Given the description of an element on the screen output the (x, y) to click on. 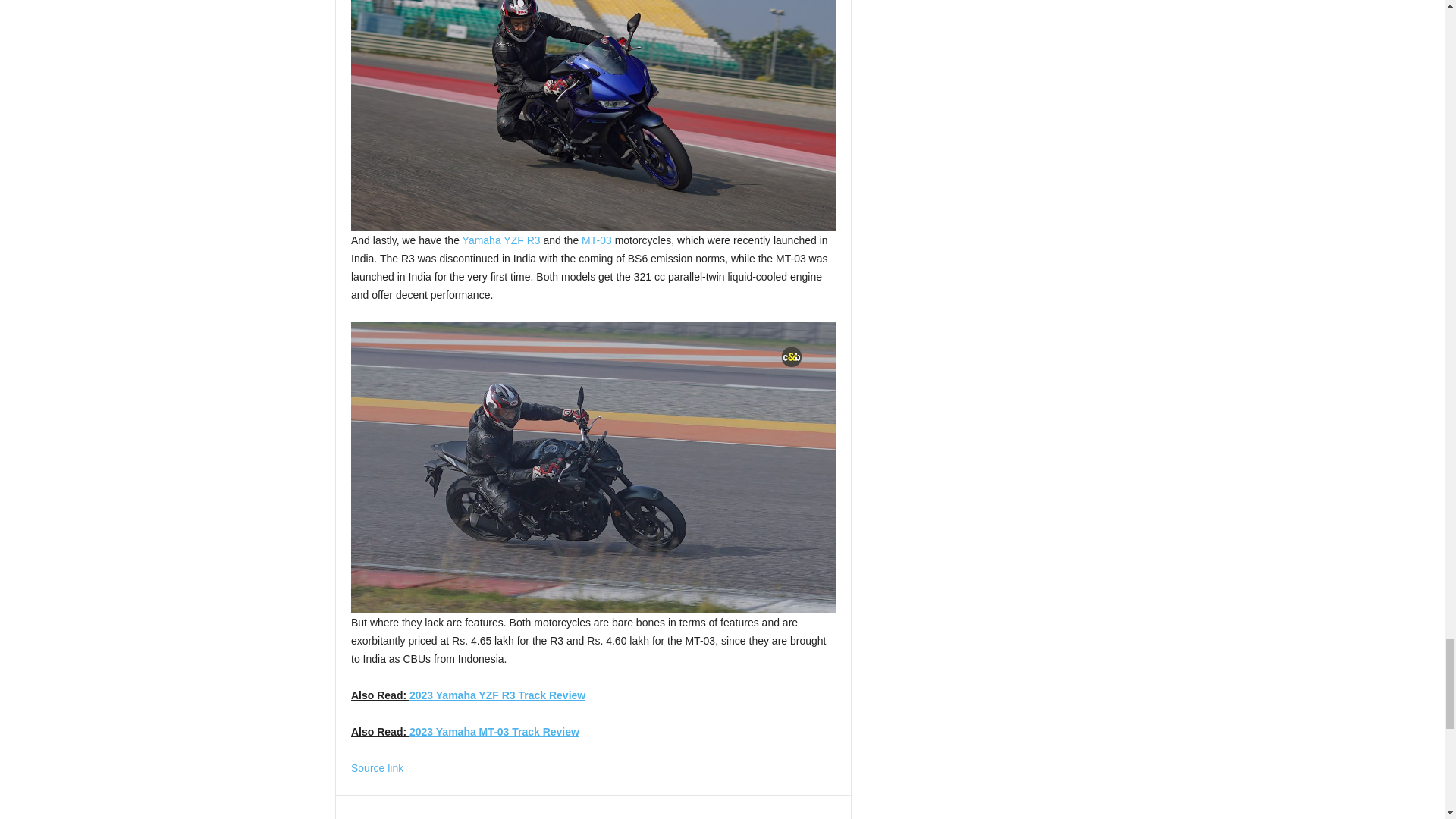
bottomFacebookLike (390, 811)
